Given the description of an element on the screen output the (x, y) to click on. 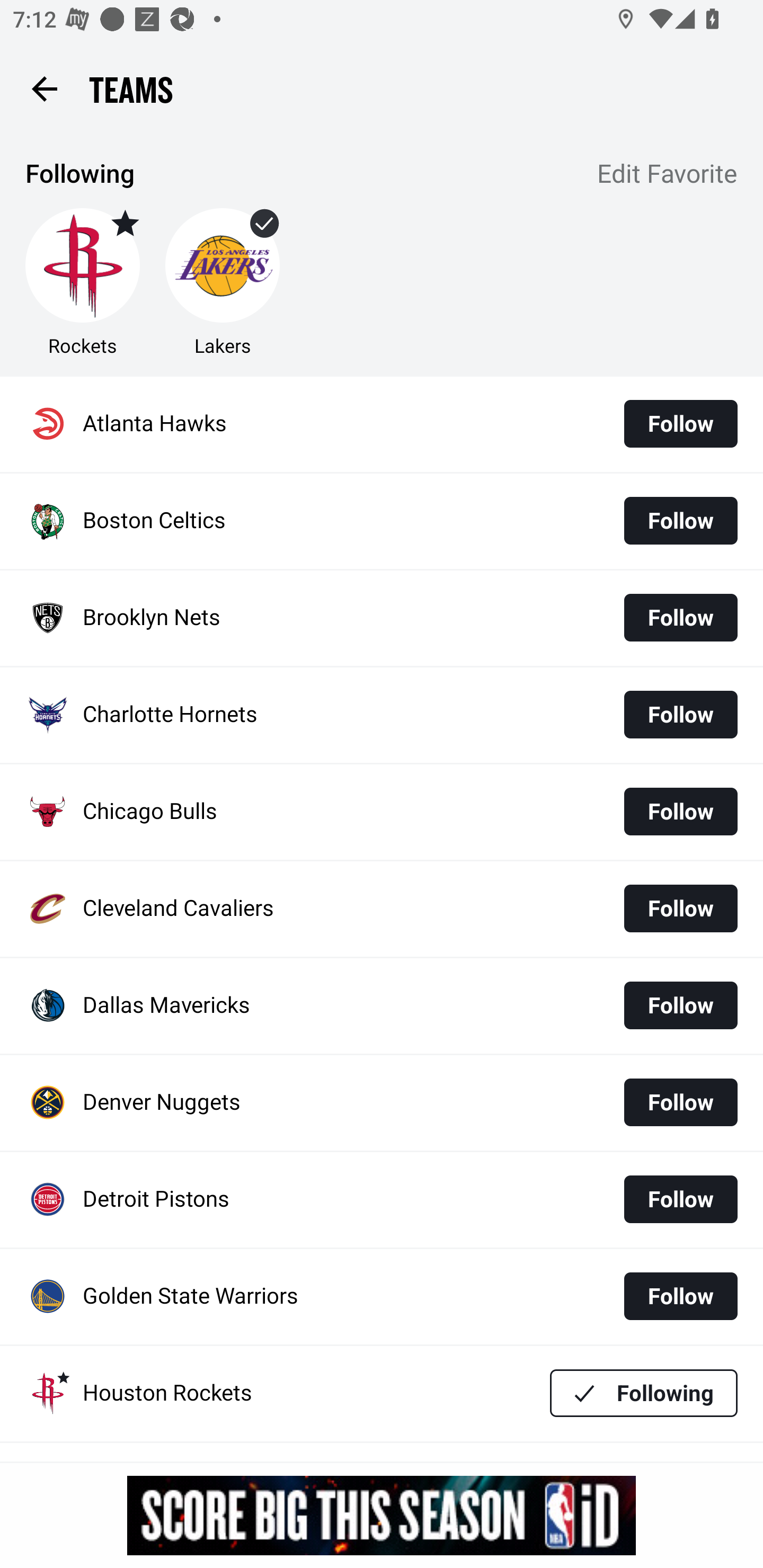
Back button (44, 88)
Edit Favorite (667, 175)
Atlanta Hawks Follow (381, 423)
Follow (680, 423)
Boston Celtics Follow (381, 521)
Follow (680, 520)
Brooklyn Nets Follow (381, 618)
Follow (680, 617)
Charlotte Hornets Follow (381, 714)
Follow (680, 713)
Chicago Bulls Follow (381, 812)
Follow (680, 811)
Cleveland Cavaliers Follow (381, 908)
Follow (680, 908)
Dallas Mavericks Follow (381, 1005)
Follow (680, 1005)
Denver Nuggets Follow (381, 1102)
Follow (680, 1101)
Detroit Pistons Follow (381, 1200)
Follow (680, 1199)
Golden State Warriors Follow (381, 1296)
Follow (680, 1295)
Houston Rockets Following (381, 1392)
Following (643, 1392)
g5nqqygr7owph (381, 1515)
